Given the description of an element on the screen output the (x, y) to click on. 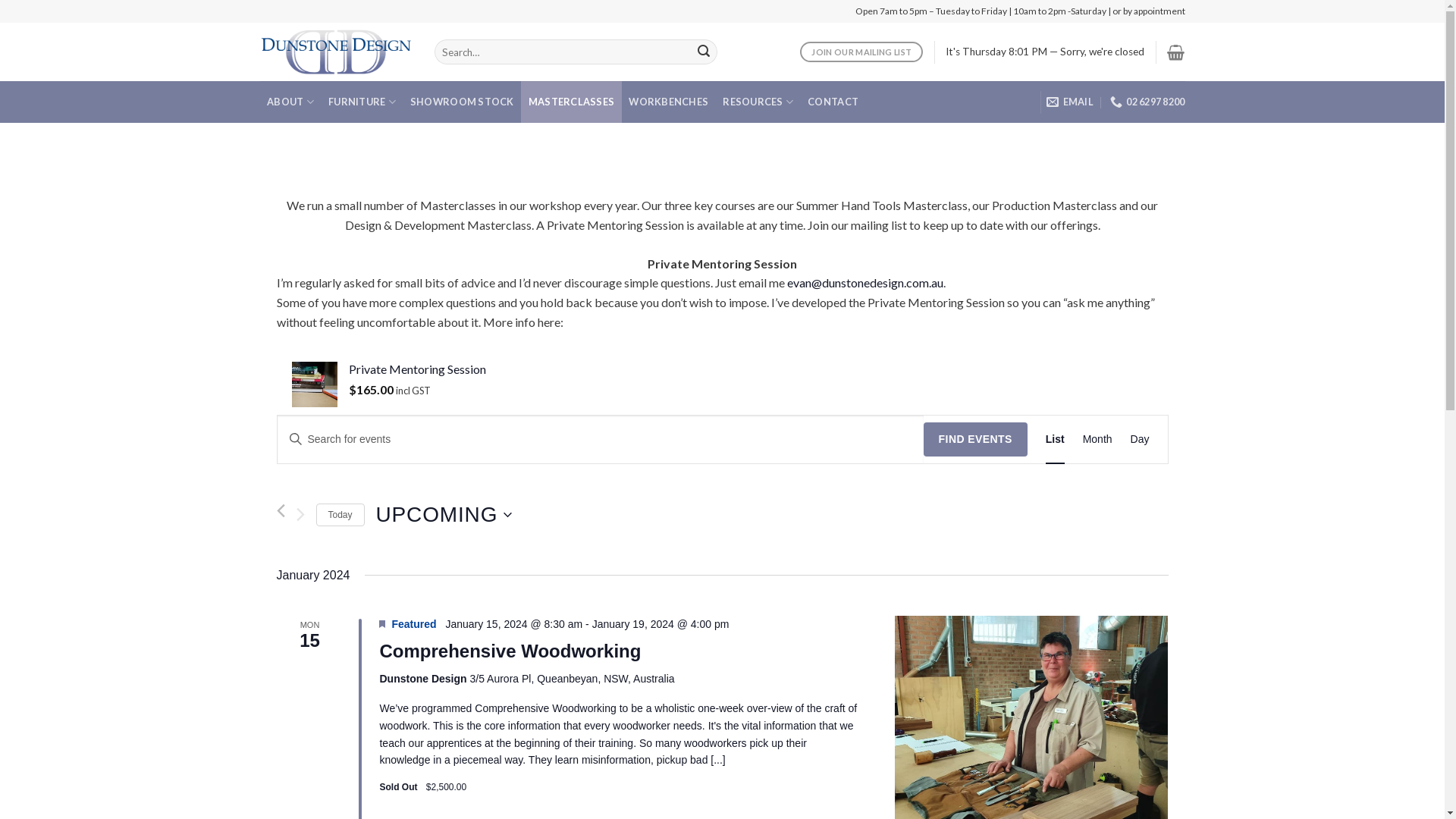
FIND EVENTS Element type: text (975, 439)
Day Element type: text (1139, 439)
Cart Element type: hover (1175, 51)
Previous Events Element type: hover (280, 510)
CONTACT Element type: text (833, 101)
Dunstone Design - Slow furniture, timeless solutions Element type: hover (335, 52)
FURNITURE Element type: text (361, 101)
SHOWROOM STOCK Element type: text (461, 101)
List Element type: text (1054, 439)
Next Events Element type: hover (299, 514)
WORKBENCHES Element type: text (668, 101)
Month Element type: text (1097, 439)
evan@dunstonedesign.com.au Element type: text (865, 282)
Private Mentoring Session Element type: text (757, 369)
ABOUT Element type: text (289, 101)
Search Element type: text (703, 52)
Comprehensive Woodworking Element type: text (509, 651)
UPCOMING Element type: text (444, 514)
JOIN OUR MAILING LIST Element type: text (861, 51)
02 6297 8200 Element type: text (1147, 101)
EMAIL Element type: text (1069, 101)
MASTERCLASSES Element type: text (570, 101)
RESOURCES Element type: text (757, 101)
Today Element type: text (339, 515)
